Given the description of an element on the screen output the (x, y) to click on. 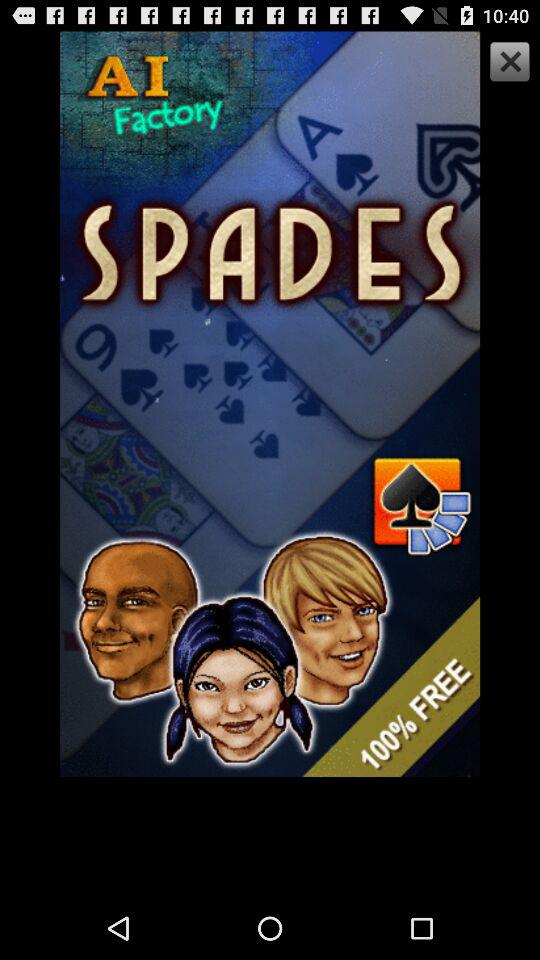
close button page (507, 64)
